Given the description of an element on the screen output the (x, y) to click on. 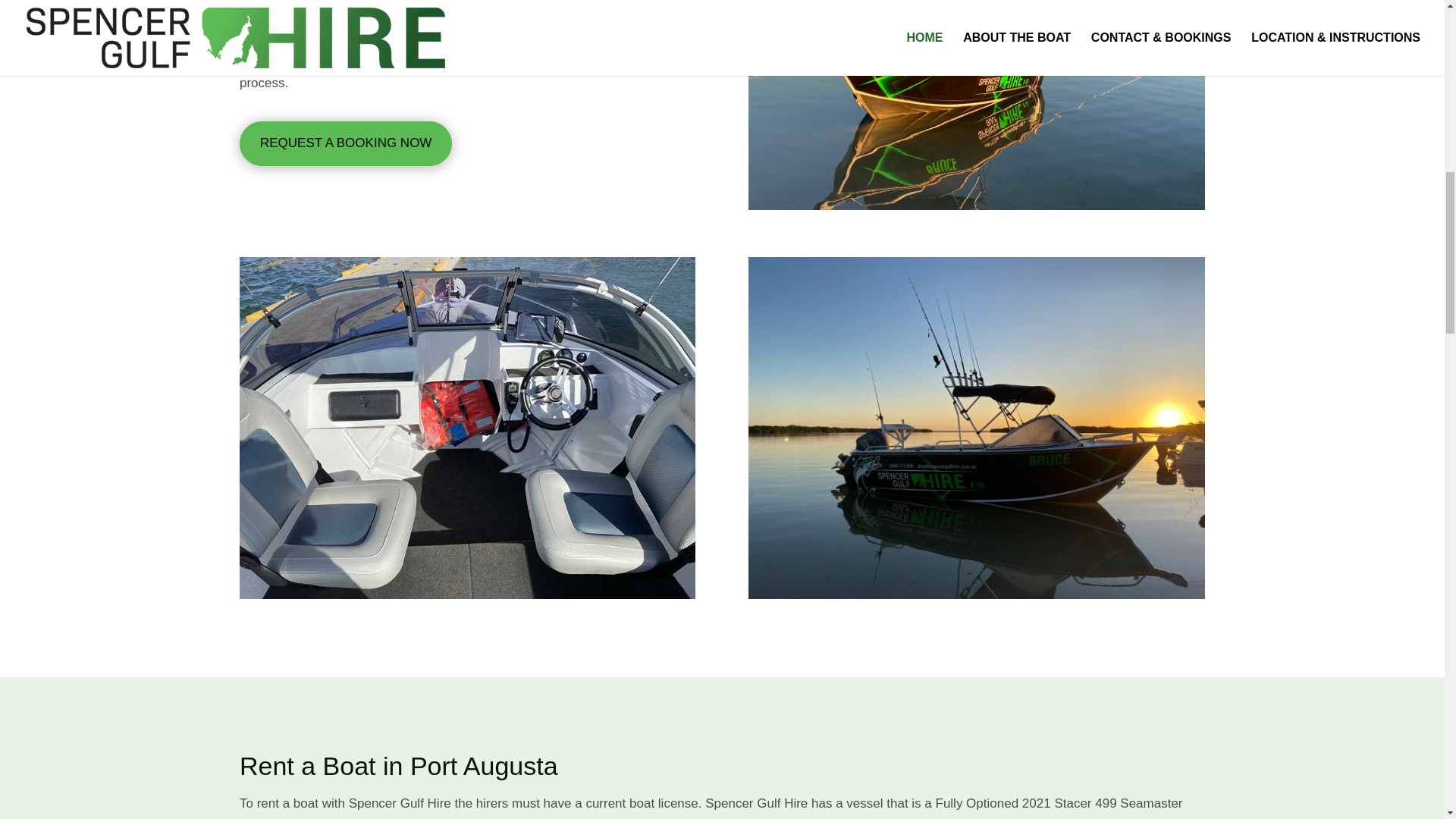
REQUEST A BOOKING NOW (345, 143)
